Given the description of an element on the screen output the (x, y) to click on. 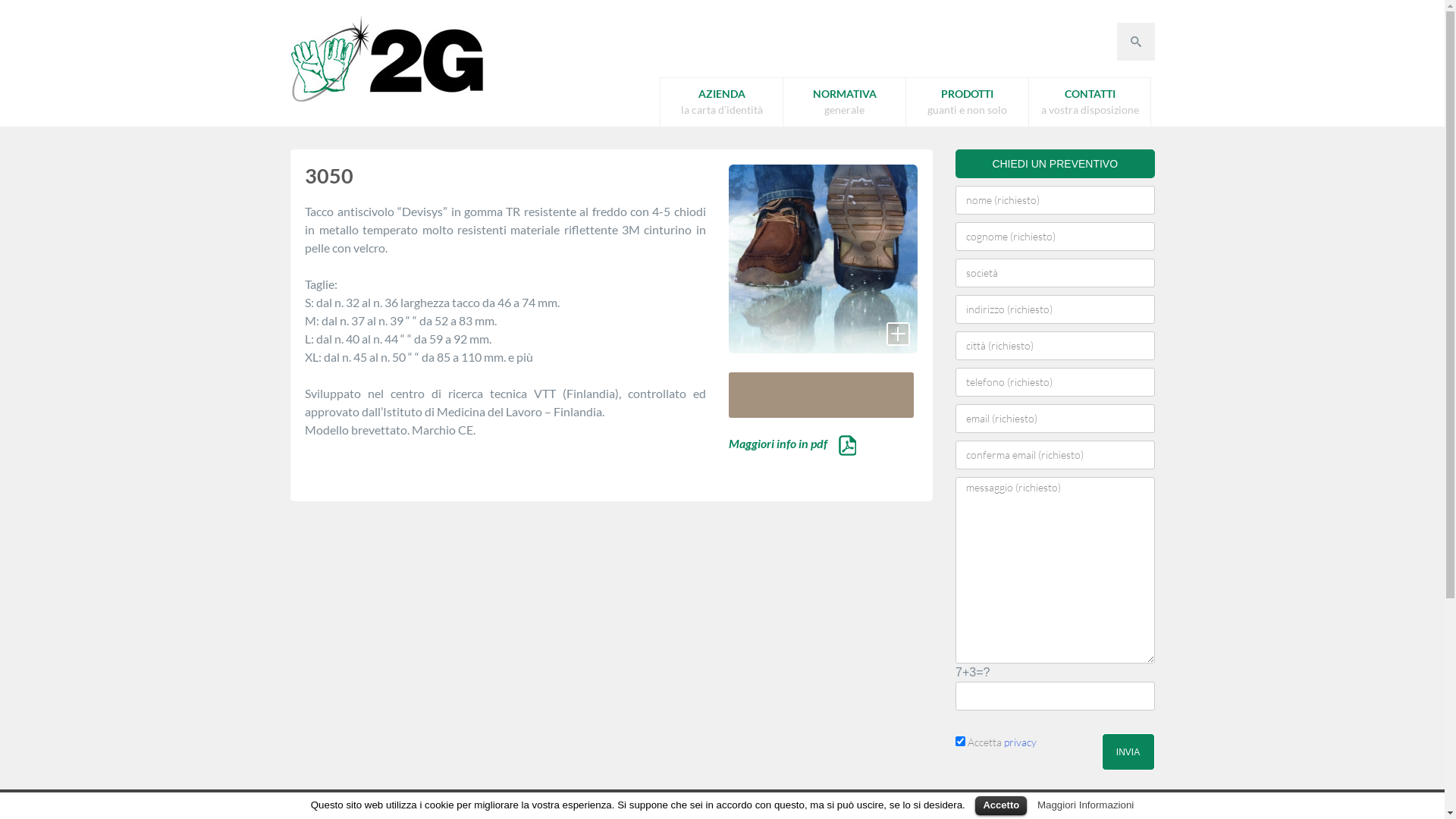
privacy Element type: text (1020, 741)
INVIA Element type: text (1127, 751)
Maggiori info in pdf Element type: text (792, 443)
Maggiori Informazioni Element type: text (1085, 804)
Guanti da lavoro 3050 Element type: hover (822, 257)
Scheda Tecnica in PDF 3050 Element type: hover (847, 445)
NORMATIVA
generale Element type: text (844, 102)
Accetto Element type: text (1000, 805)
PRODOTTI
guanti e non solo Element type: text (967, 102)
CONTATTI
a vostra disposizione Element type: text (1089, 102)
